Given the description of an element on the screen output the (x, y) to click on. 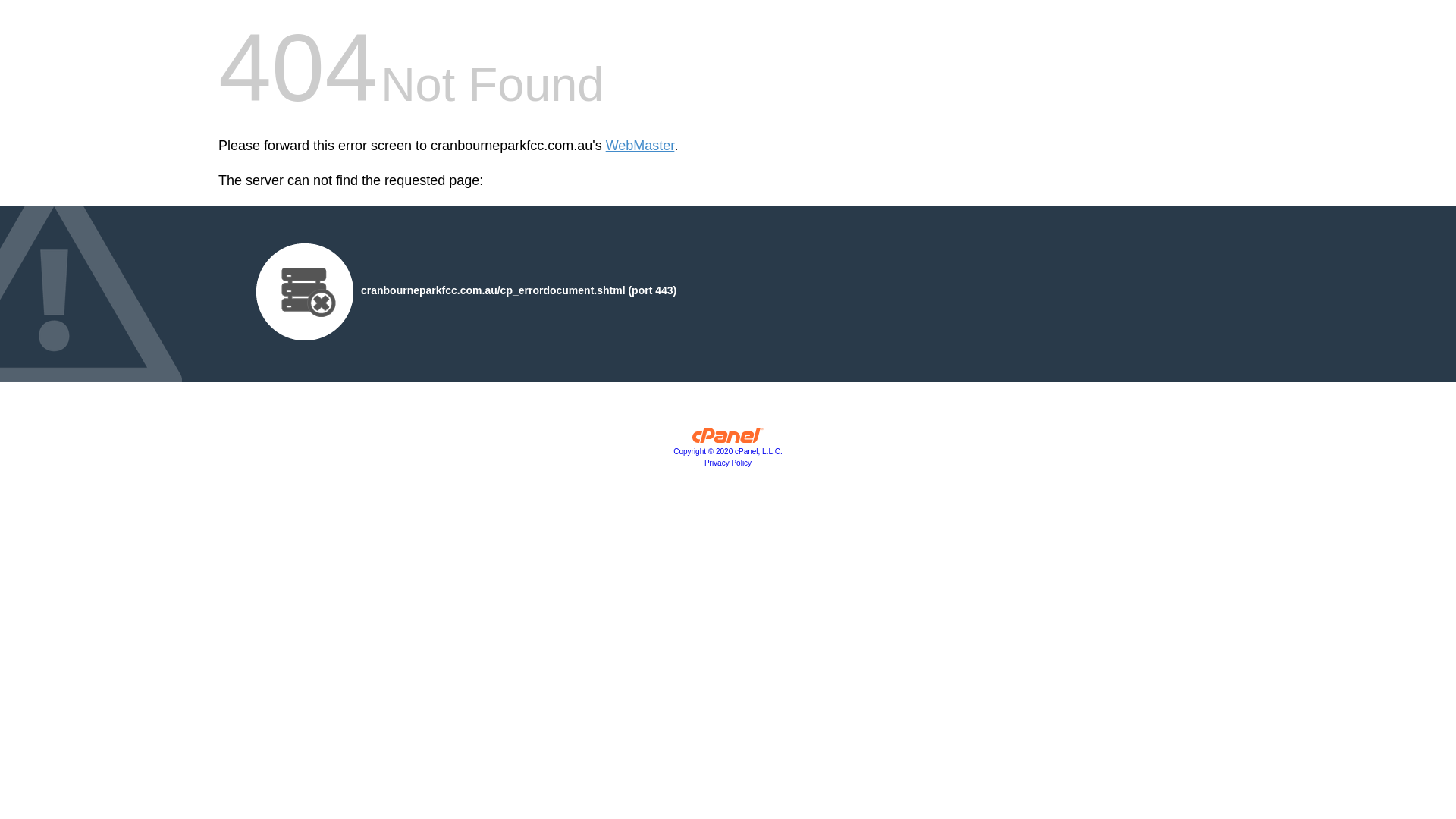
WebMaster Element type: text (639, 145)
cPanel, Inc. Element type: hover (728, 439)
Privacy Policy Element type: text (727, 462)
